Given the description of an element on the screen output the (x, y) to click on. 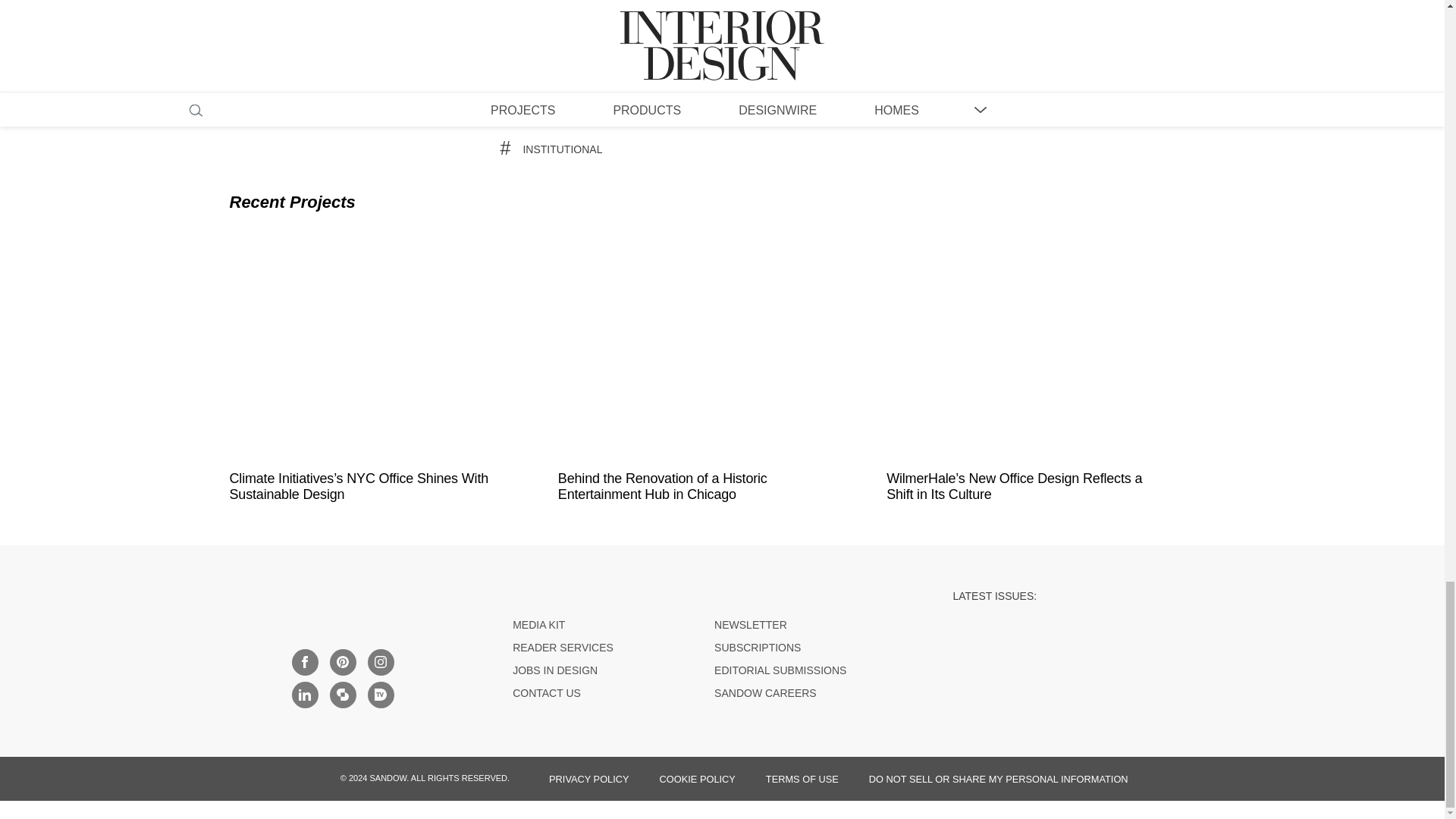
INSTITUTIONAL (562, 149)
